Given the description of an element on the screen output the (x, y) to click on. 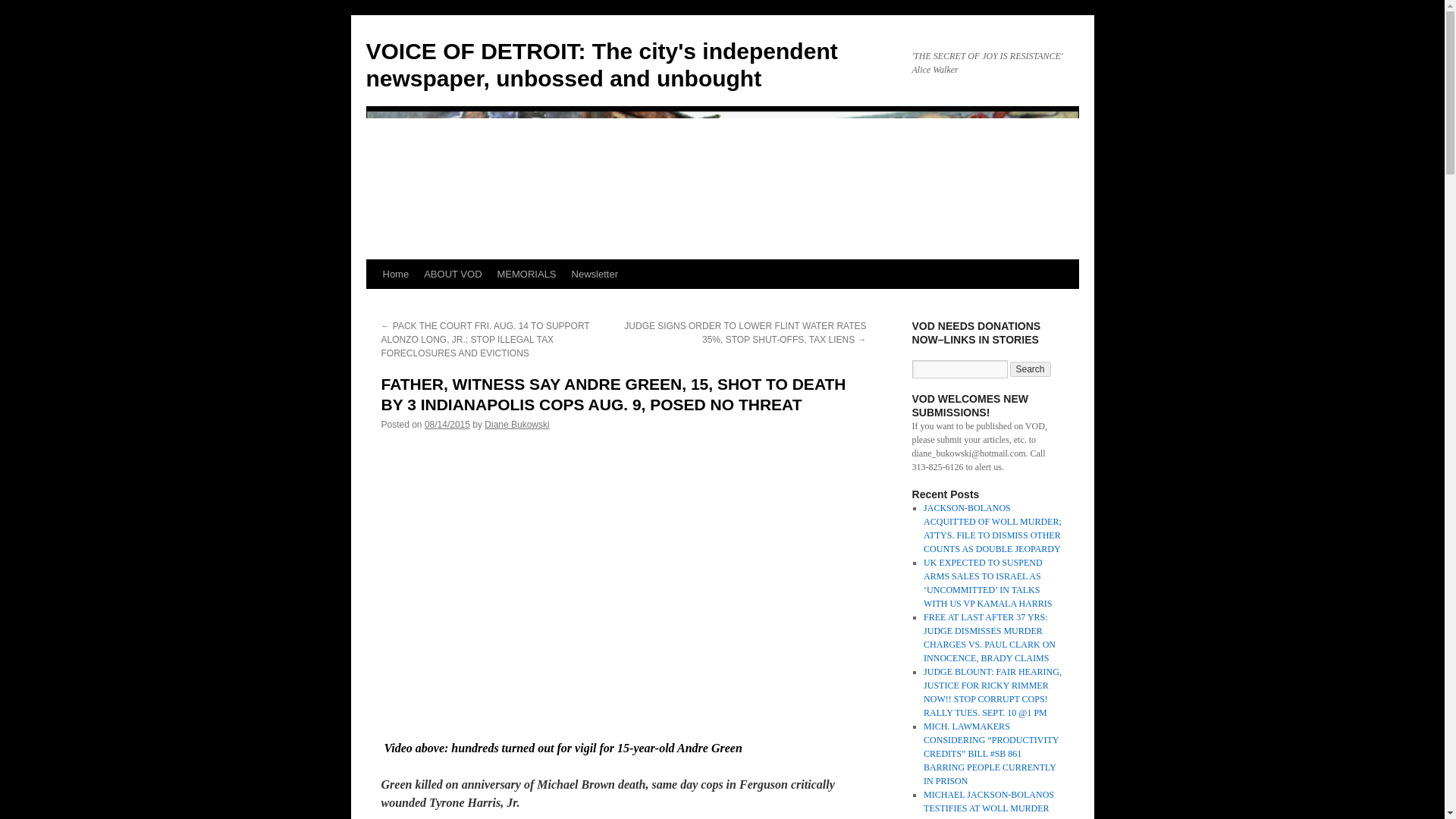
4:27 pm (447, 424)
Newsletter (595, 274)
ABOUT VOD (452, 274)
View all posts by Diane Bukowski (516, 424)
Home (395, 274)
Search (1030, 368)
Diane Bukowski (516, 424)
MEMORIALS (526, 274)
